Given the description of an element on the screen output the (x, y) to click on. 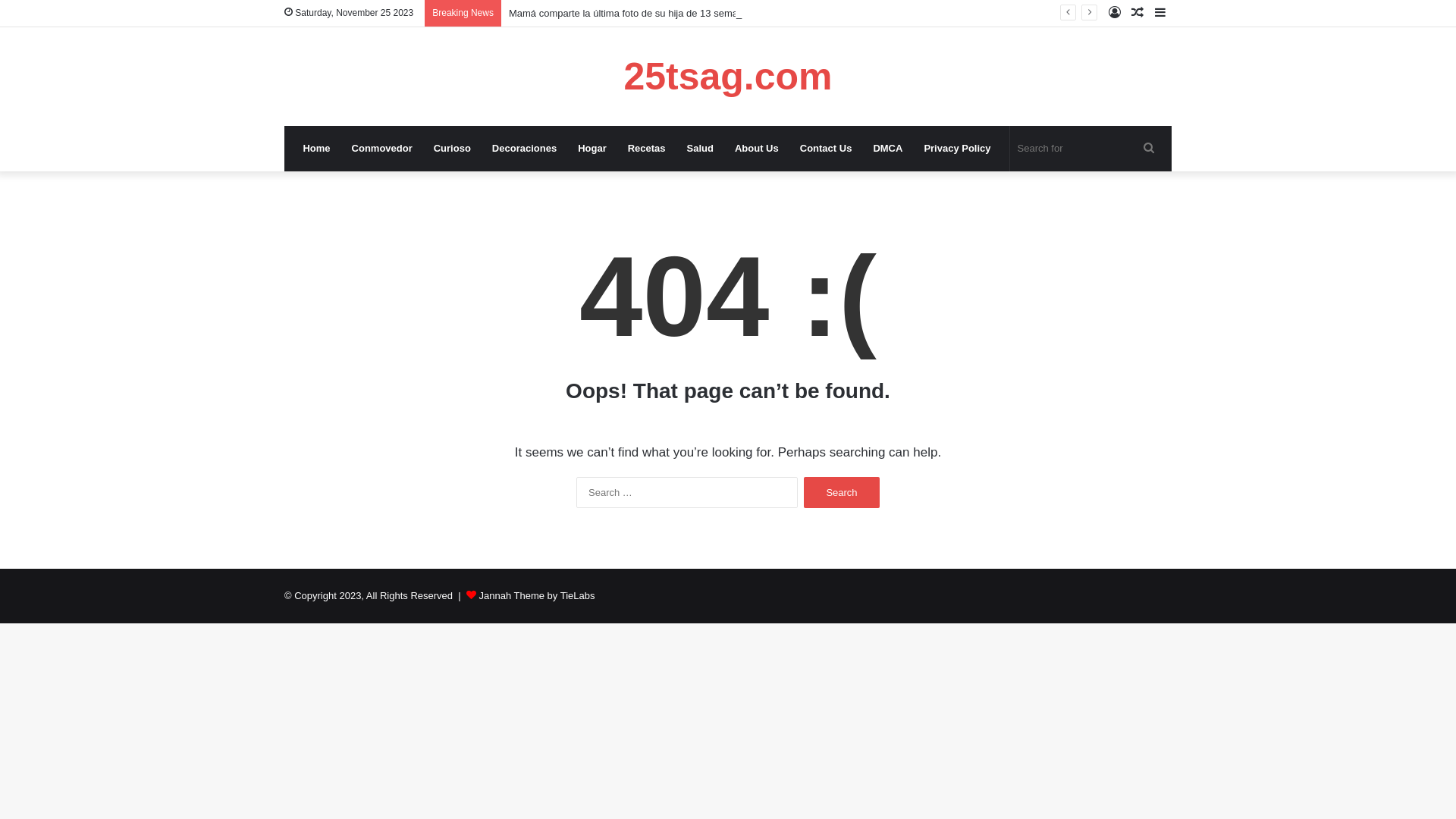
Search Element type: text (841, 492)
Random Article Element type: text (1137, 13)
Sidebar Element type: text (1159, 13)
Recetas Element type: text (646, 148)
Salud Element type: text (700, 148)
Decoraciones Element type: text (524, 148)
Conmovedor Element type: text (382, 148)
DMCA Element type: text (887, 148)
Hogar Element type: text (592, 148)
Jannah Theme by TieLabs Element type: text (536, 595)
Search for Element type: text (1148, 148)
About Us Element type: text (756, 148)
Contact Us Element type: text (825, 148)
Home Element type: text (315, 148)
Privacy Policy Element type: text (957, 148)
25tsag.com Element type: text (727, 76)
Search for Element type: hover (1087, 148)
Curioso Element type: text (452, 148)
Log In Element type: text (1114, 13)
